Given the description of an element on the screen output the (x, y) to click on. 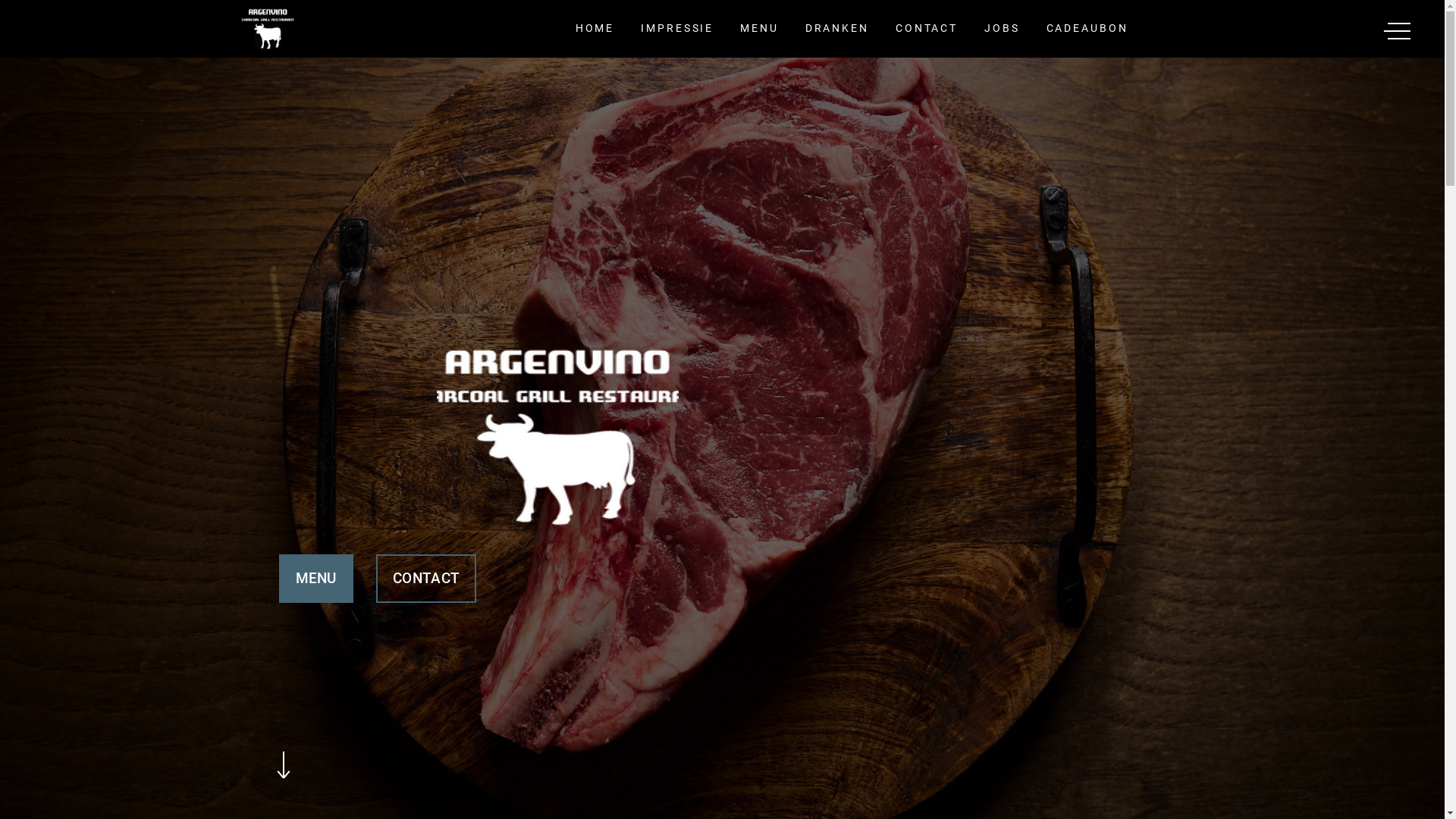
IMPRESSIE Element type: text (676, 28)
MENU Element type: text (316, 578)
MENU Element type: text (759, 28)
CADEAUBON Element type: text (1087, 28)
HOME Element type: text (595, 28)
CONTACT Element type: text (426, 578)
CONTACT Element type: text (926, 28)
DRANKEN Element type: text (837, 28)
JOBS Element type: text (1001, 28)
